Given the description of an element on the screen output the (x, y) to click on. 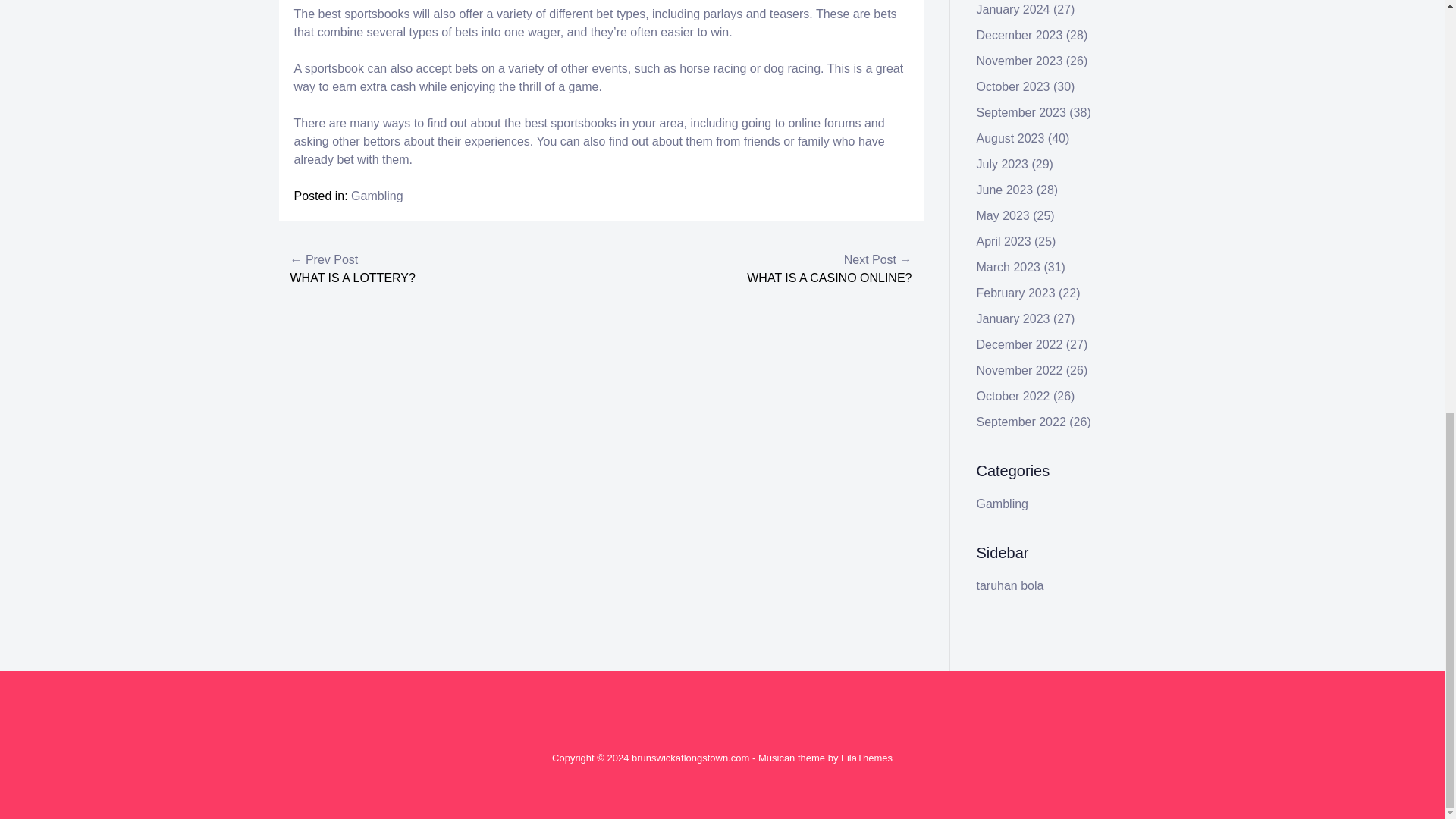
January 2024 (1012, 9)
December 2022 (1019, 344)
July 2023 (1002, 164)
brunswickatlongstown.com (690, 757)
September 2023 (1020, 112)
October 2023 (1012, 86)
November 2022 (1019, 369)
June 2023 (1004, 189)
August 2023 (1010, 137)
April 2023 (1003, 241)
